Given the description of an element on the screen output the (x, y) to click on. 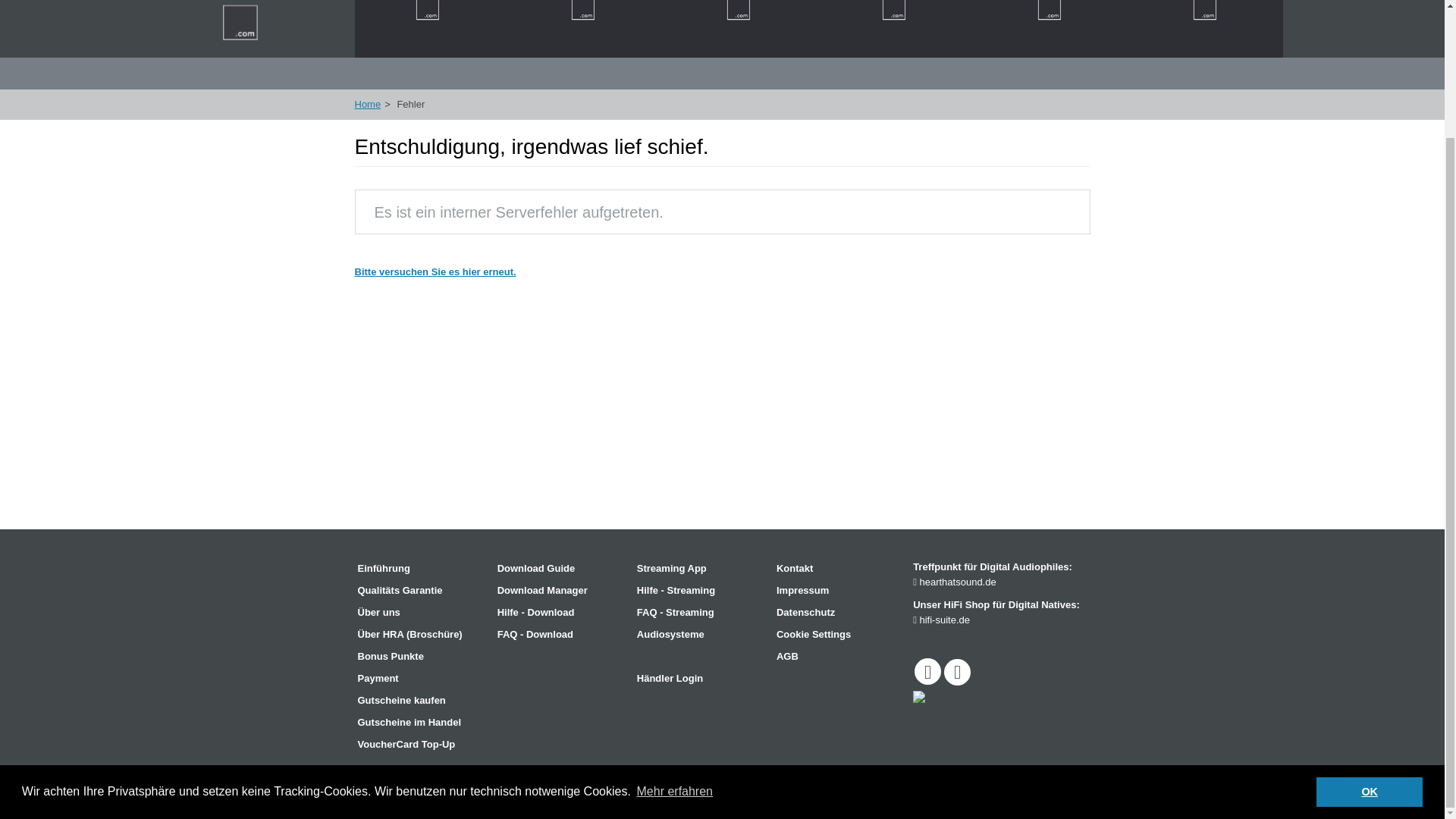
Gutscheine im Handel (420, 722)
Home (368, 103)
Gutscheine kaufen (420, 700)
Hilfe - Download (560, 612)
VoucherCard Top-Up (420, 744)
FAQ - Download (560, 634)
Streaming App (699, 568)
OK (1369, 636)
Besuchen Sie HRA auf Twitter (957, 672)
Download Manager (560, 590)
